Given the description of an element on the screen output the (x, y) to click on. 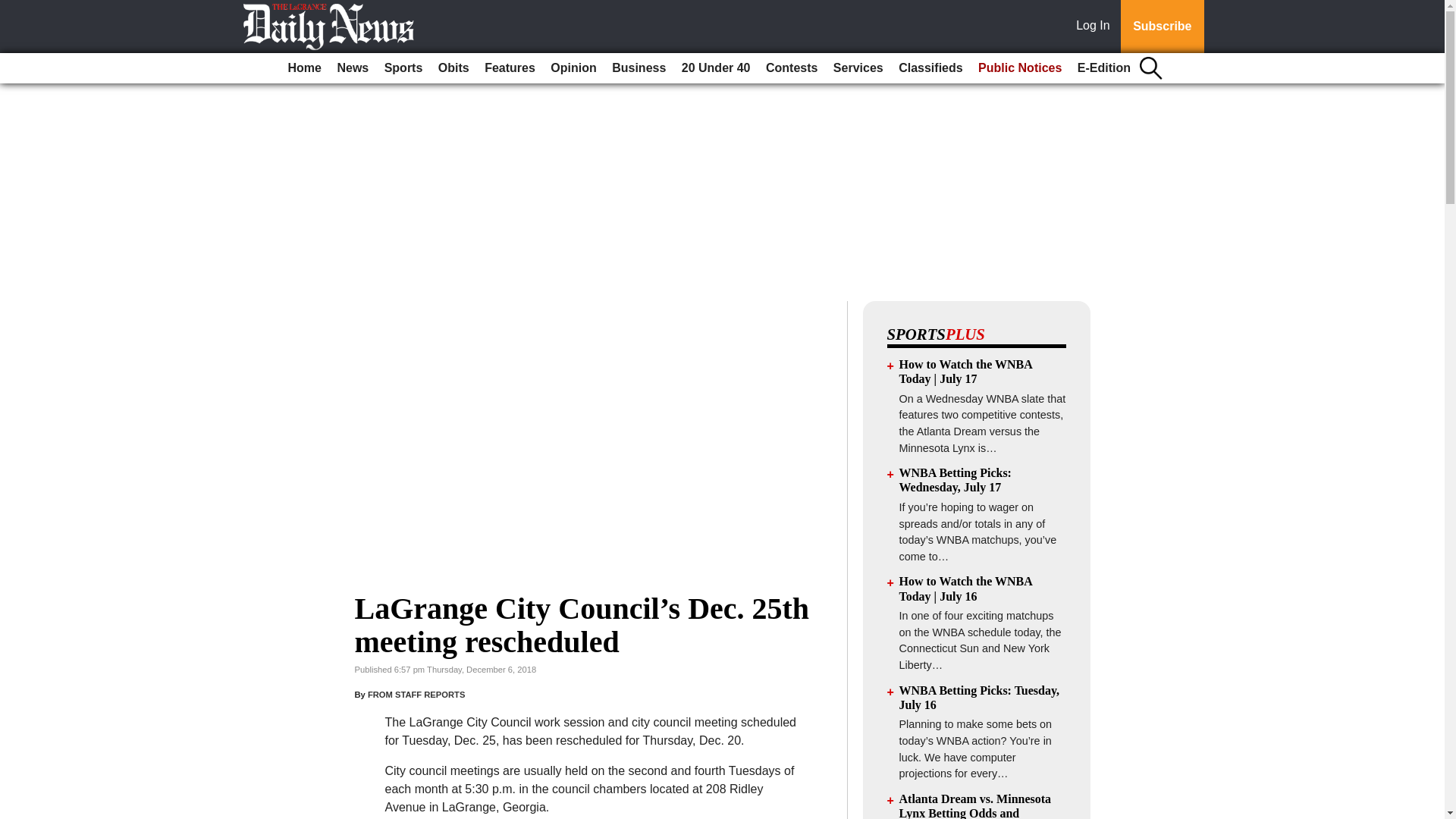
Home (304, 68)
WNBA Betting Picks: Wednesday, July 17 (955, 479)
E-Edition (1104, 68)
Opinion (573, 68)
News (352, 68)
Business (638, 68)
Go (13, 9)
Subscribe (1162, 26)
Classifieds (930, 68)
20 Under 40 (716, 68)
Services (858, 68)
Sports (403, 68)
FROM STAFF REPORTS (416, 694)
Public Notices (1019, 68)
Contests (792, 68)
